Given the description of an element on the screen output the (x, y) to click on. 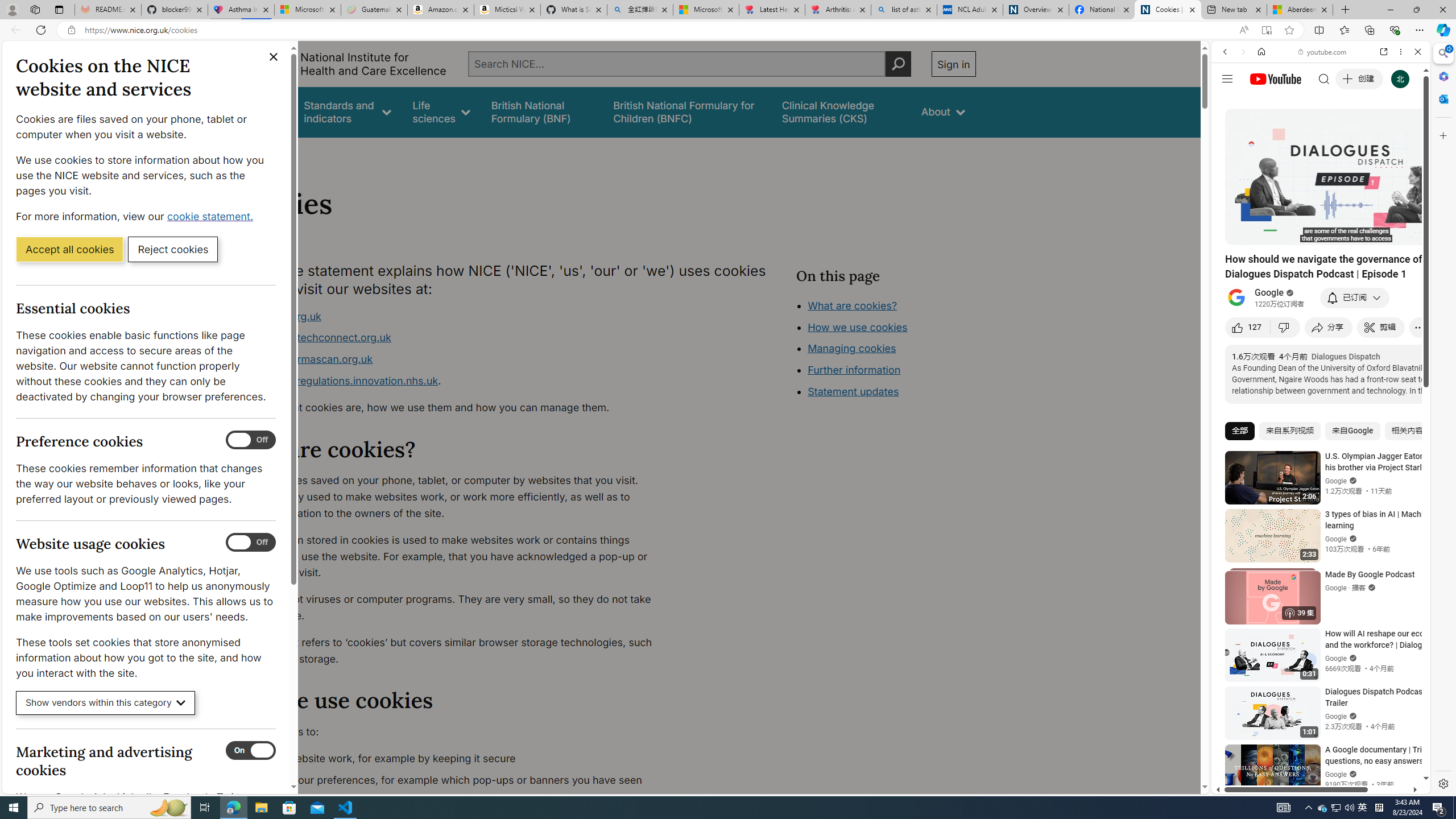
Music (1320, 309)
www.digitalregulations.innovation.nhs.uk. (452, 380)
